Given the description of an element on the screen output the (x, y) to click on. 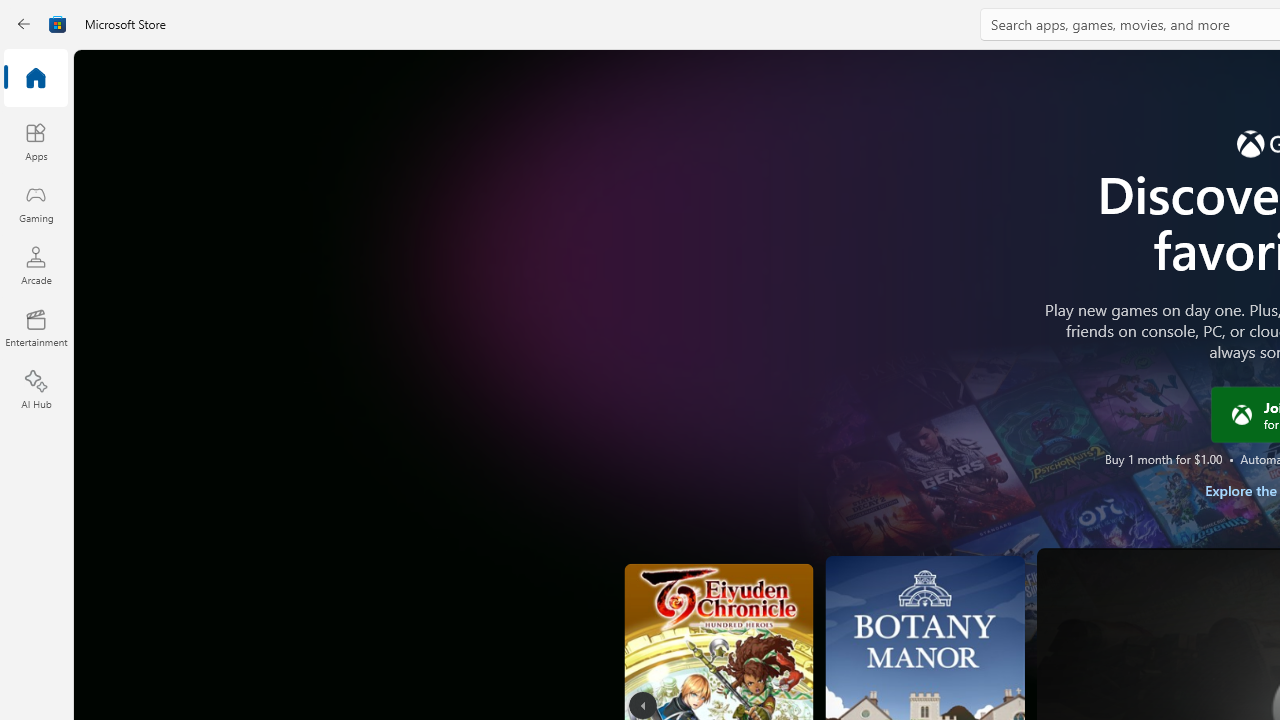
Back (24, 24)
